Given the description of an element on the screen output the (x, y) to click on. 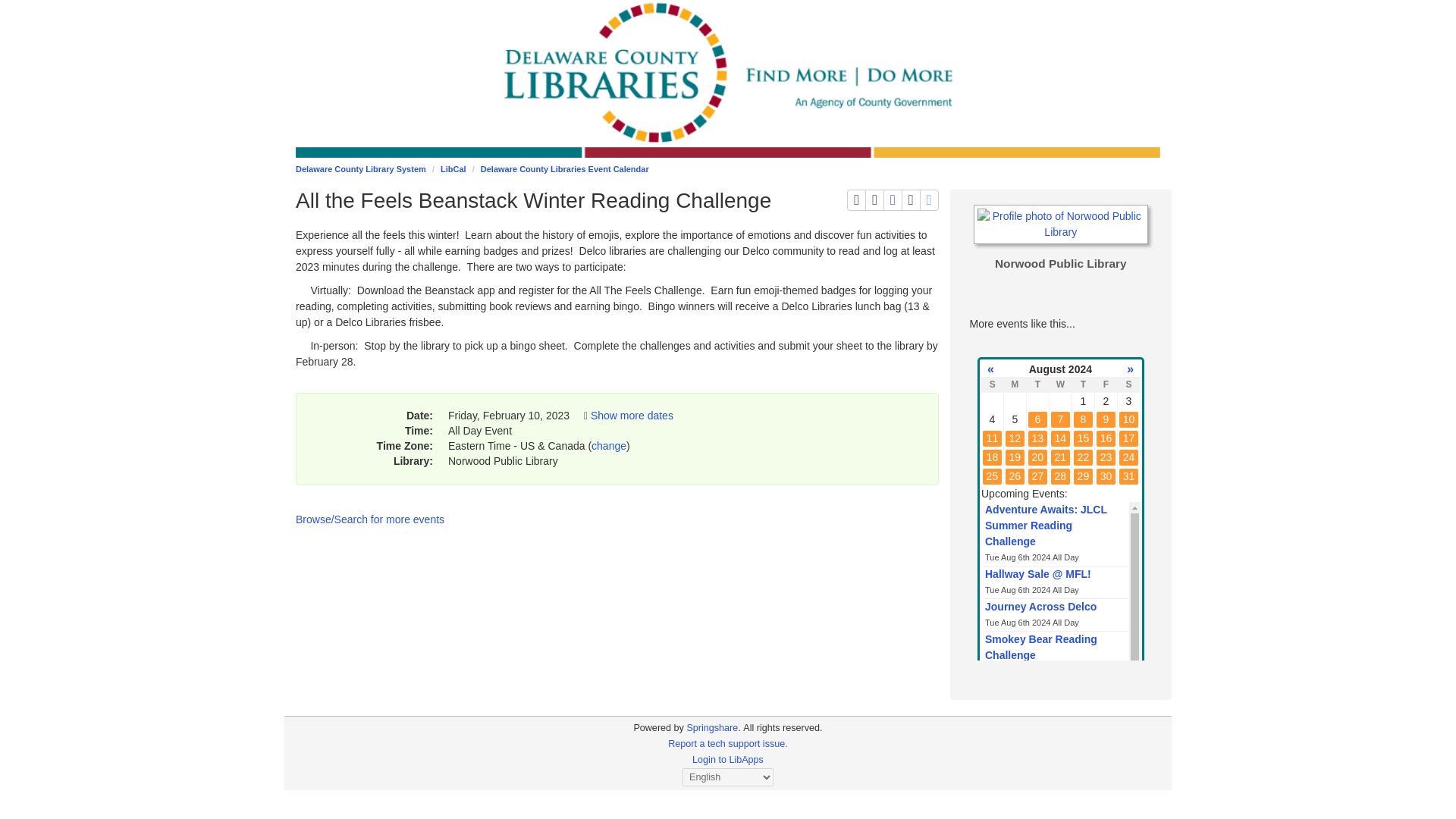
Add to a Calendar using iCal (929, 199)
LibCal (910, 199)
Show more dates (873, 199)
Report a tech support issue. (453, 168)
Delaware County Libraries Event Calendar (631, 415)
libcal-us-1 (727, 743)
Springshare (564, 168)
